Given the description of an element on the screen output the (x, y) to click on. 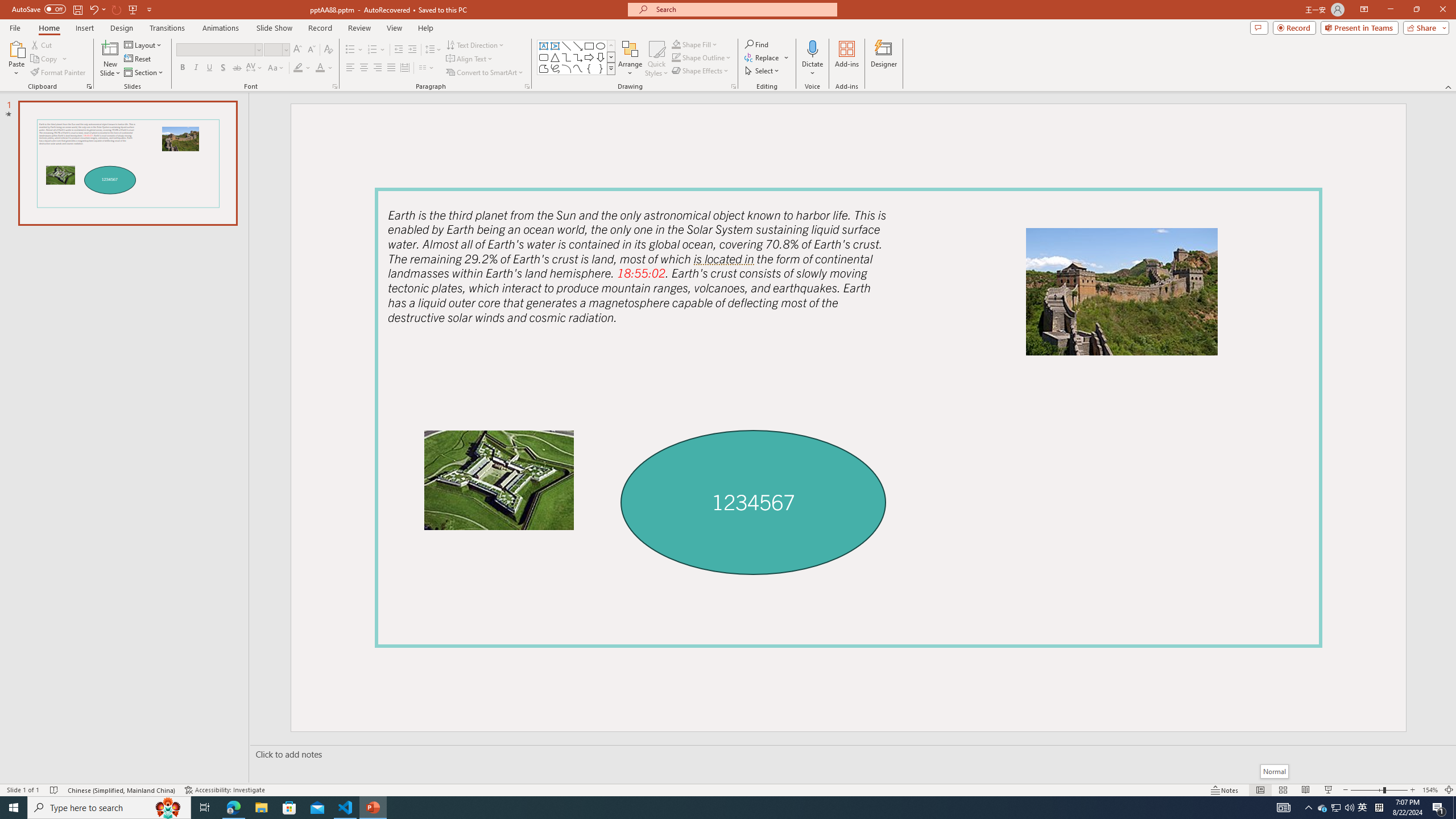
Shape Fill Aqua, Accent 2 (675, 44)
Rectangle: Rounded Corners (543, 57)
Freeform: Scribble (554, 68)
Arrow: Right (589, 57)
Right Brace (600, 68)
Align Left (349, 67)
Arc (566, 68)
Shape Outline (701, 56)
